Given the description of an element on the screen output the (x, y) to click on. 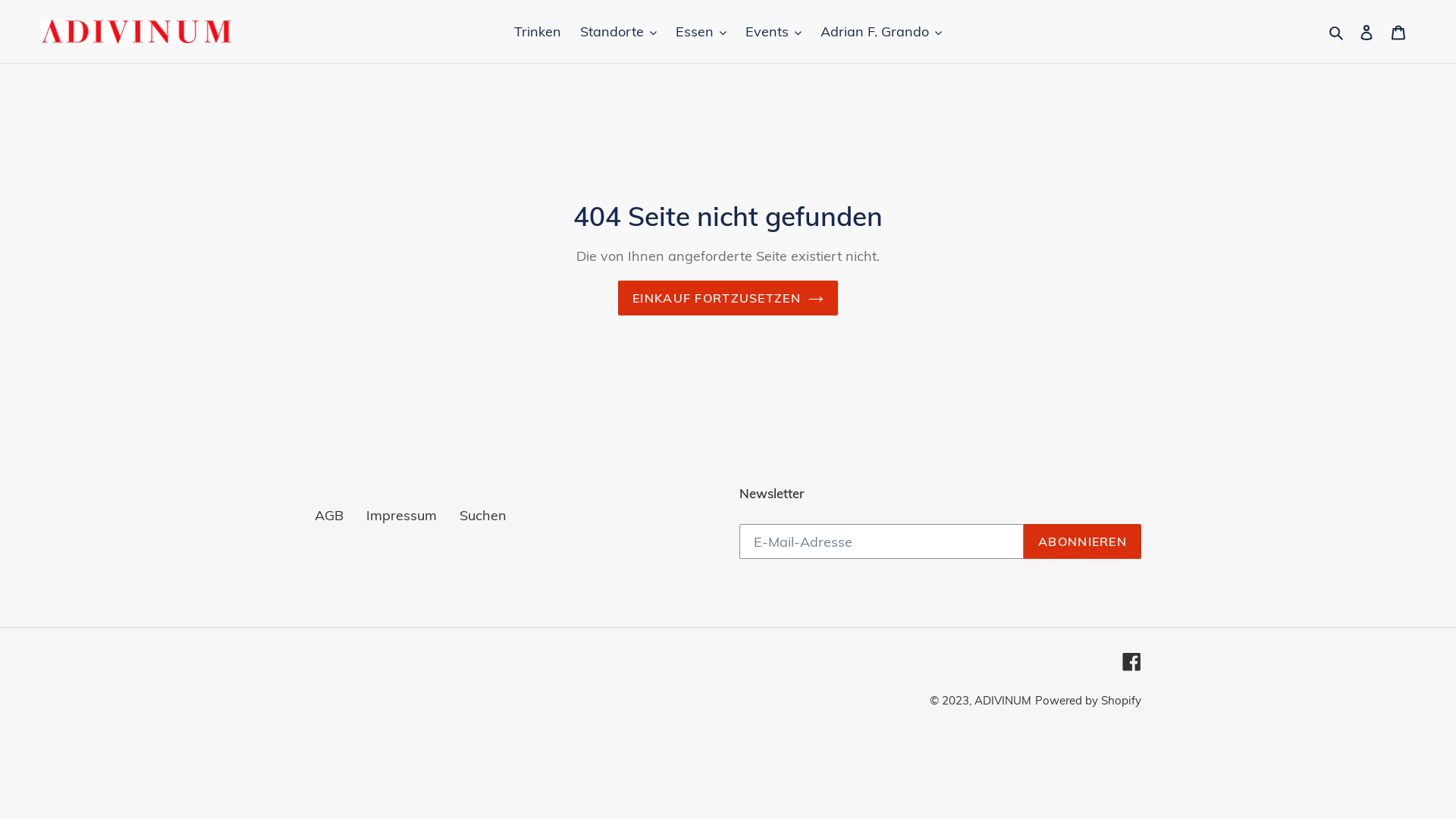
ABONNIEREN Element type: text (1082, 541)
Warenkorb Element type: text (1398, 31)
ADIVINUM Element type: text (1002, 700)
Standorte Element type: text (618, 30)
AGB Element type: text (328, 515)
Adrian F. Grando Element type: text (880, 30)
Einloggen Element type: text (1366, 31)
Suchen Element type: text (482, 515)
Essen Element type: text (701, 30)
Suchen Element type: text (1337, 31)
Facebook Element type: text (1131, 660)
Events Element type: text (773, 30)
Trinken Element type: text (537, 30)
EINKAUF FORTZUSETZEN Element type: text (727, 297)
Impressum Element type: text (401, 515)
